Given the description of an element on the screen output the (x, y) to click on. 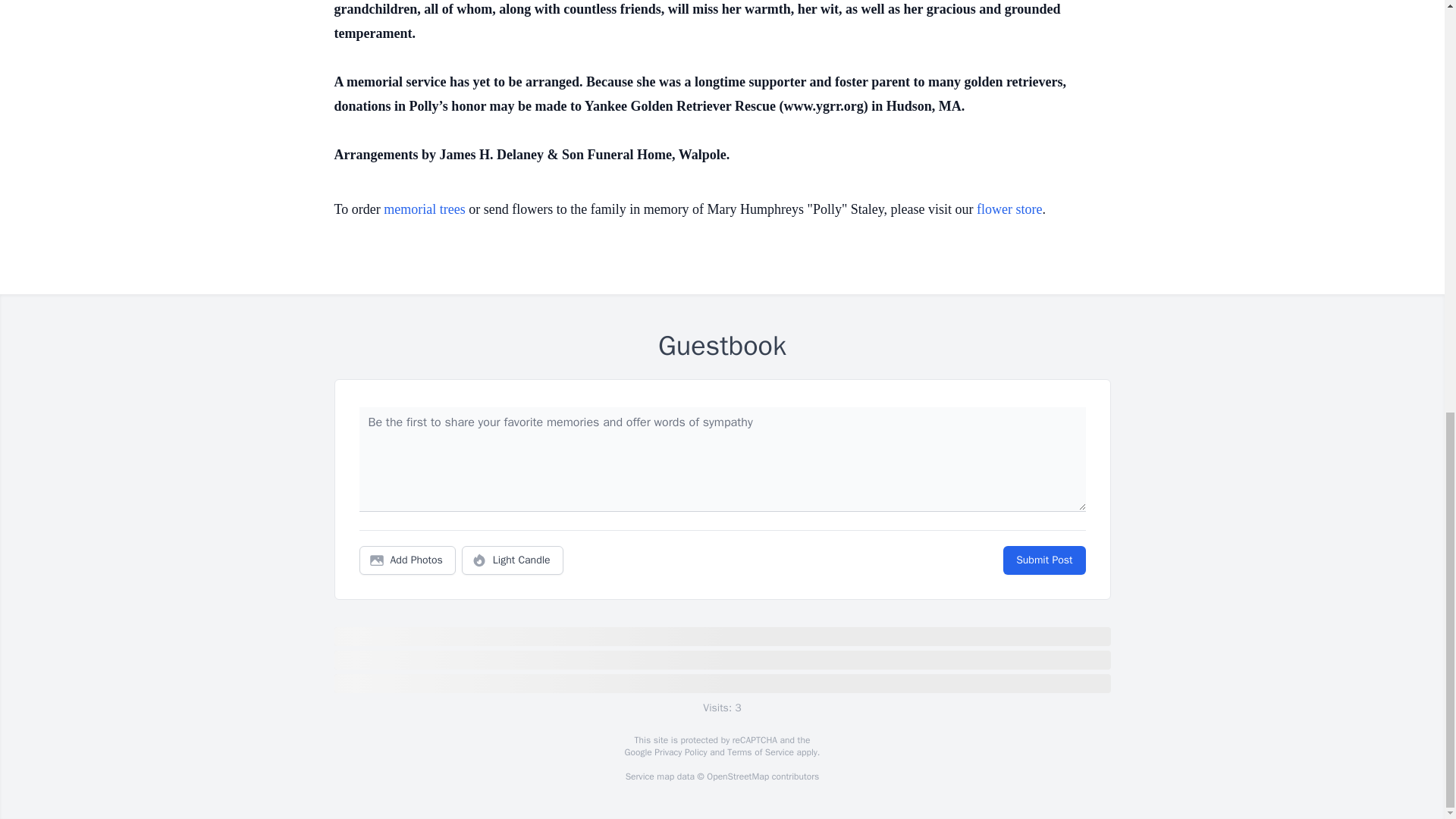
Add Photos (407, 560)
memorial trees (424, 209)
Submit Post (1043, 560)
Terms of Service (759, 752)
flower store (1009, 209)
Privacy Policy (679, 752)
OpenStreetMap (737, 776)
Light Candle (512, 560)
